Given the description of an element on the screen output the (x, y) to click on. 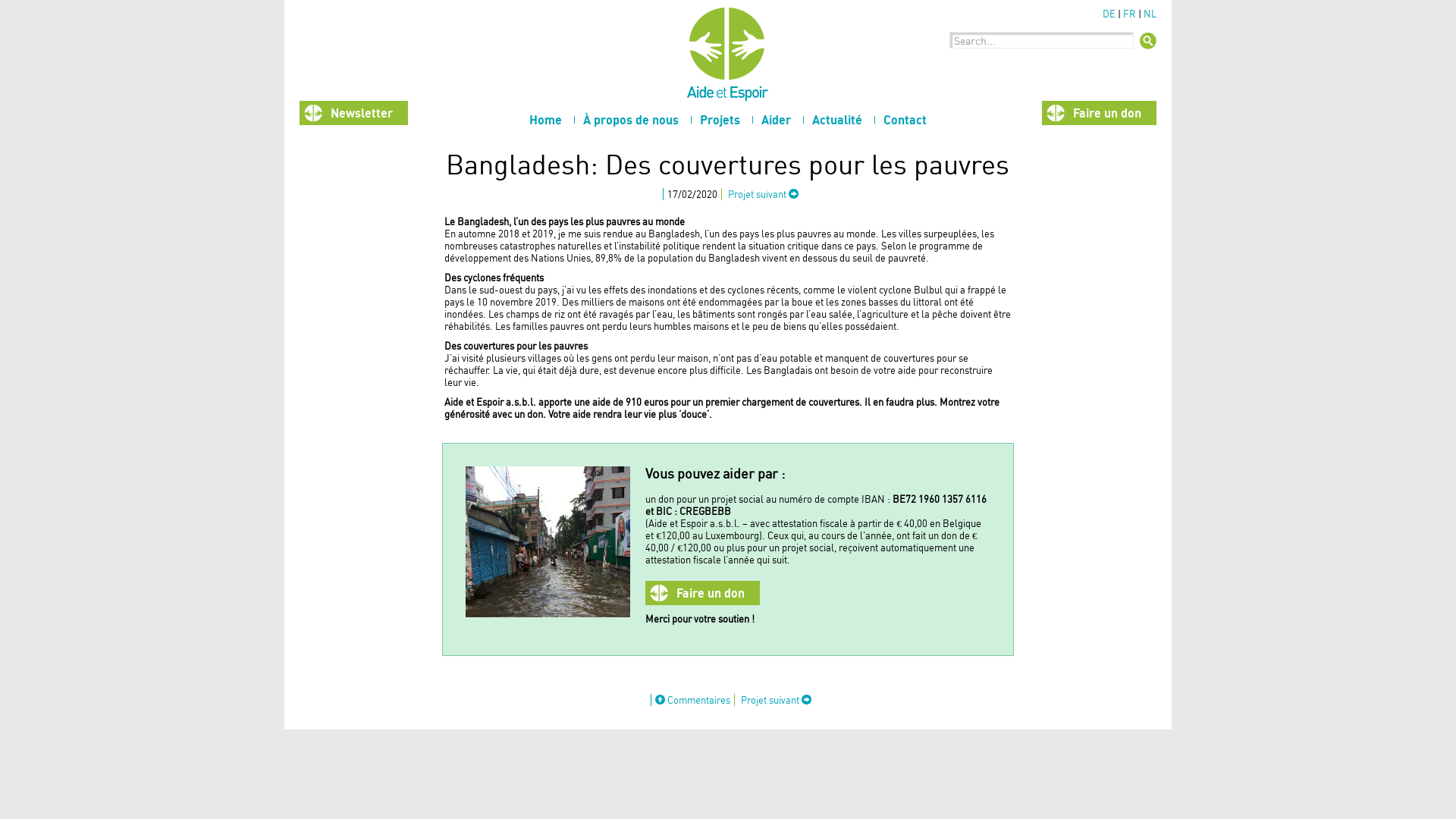
Faire un don Element type: text (1098, 112)
Faire un don Element type: text (702, 592)
Projets Element type: text (719, 117)
Commentaires Element type: text (692, 699)
Aider Element type: text (776, 117)
FR Element type: text (1129, 13)
Projet suivant Element type: text (775, 699)
Home Element type: text (545, 117)
Projet suivant Element type: text (763, 194)
Contact Element type: text (904, 117)
Newsletter Element type: text (353, 112)
Search... Element type: text (1146, 44)
DE Element type: text (1108, 13)
NL Element type: text (1149, 13)
